Given the description of an element on the screen output the (x, y) to click on. 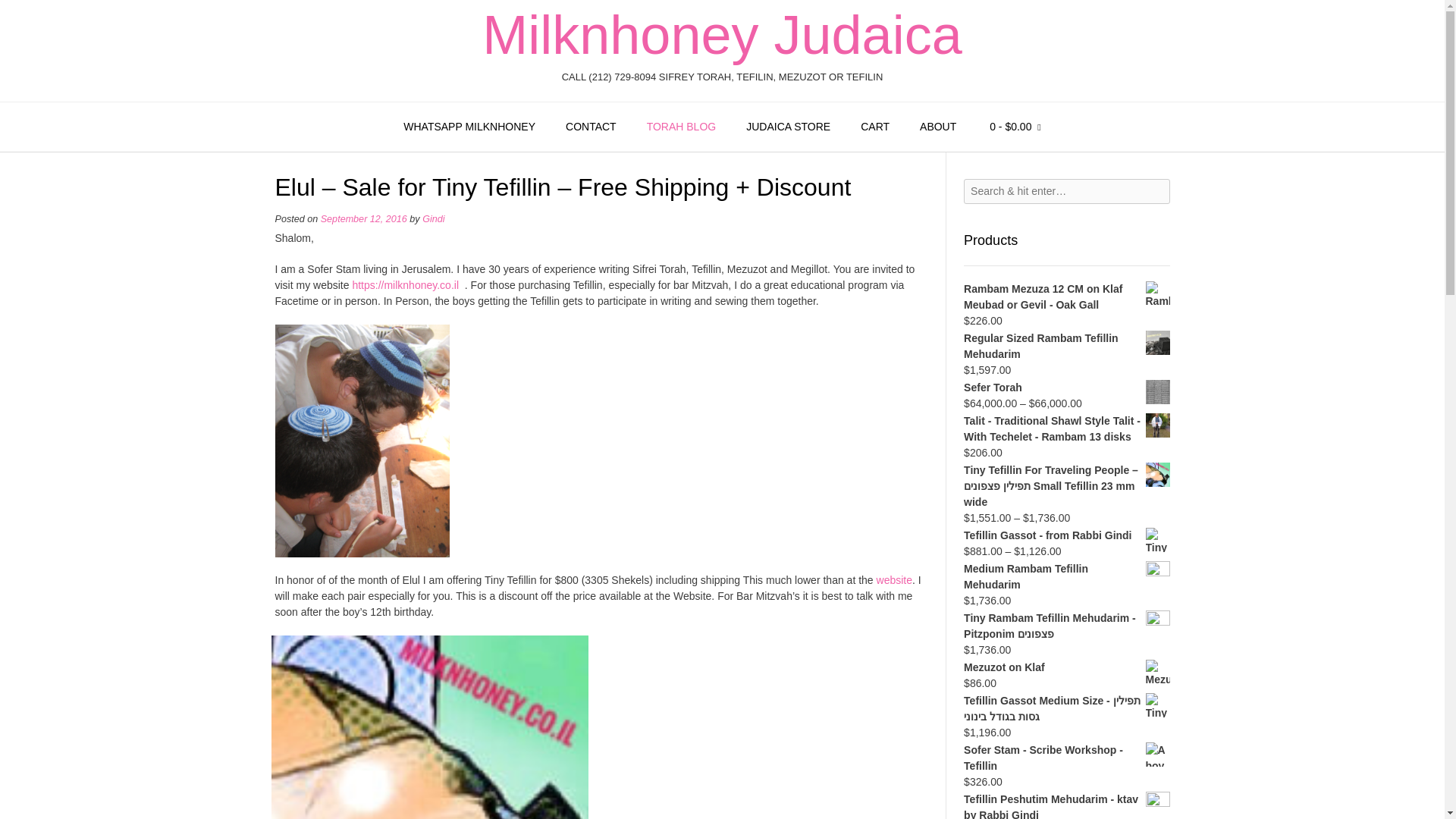
WHATSAPP MILKNHONEY (469, 127)
September 12, 2016 (363, 218)
CONTACT (590, 127)
JUDAICA STORE (787, 127)
Milknhoney Judaica (720, 34)
Gindi (433, 218)
View your shopping cart (1015, 127)
CART (874, 127)
ABOUT (937, 127)
Milknhoney Judaica (720, 34)
